Given the description of an element on the screen output the (x, y) to click on. 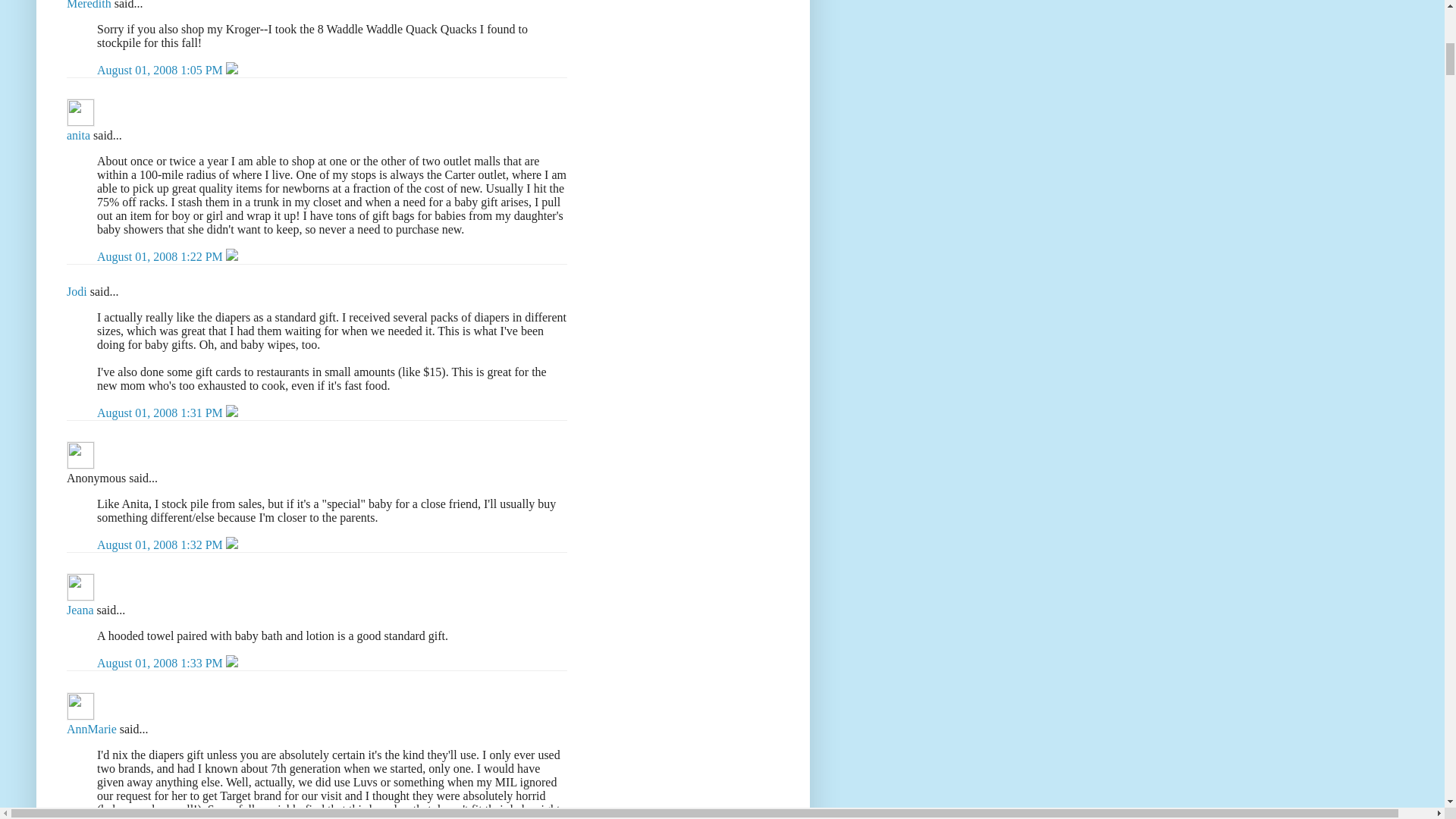
comment permalink (161, 69)
August 01, 2008 1:31 PM (161, 412)
anita (80, 112)
August 01, 2008 1:32 PM (161, 544)
anita (78, 134)
Jeana (80, 609)
August 01, 2008 1:05 PM (161, 69)
comment permalink (161, 412)
Delete Comment (231, 256)
Jodi (76, 291)
